Given the description of an element on the screen output the (x, y) to click on. 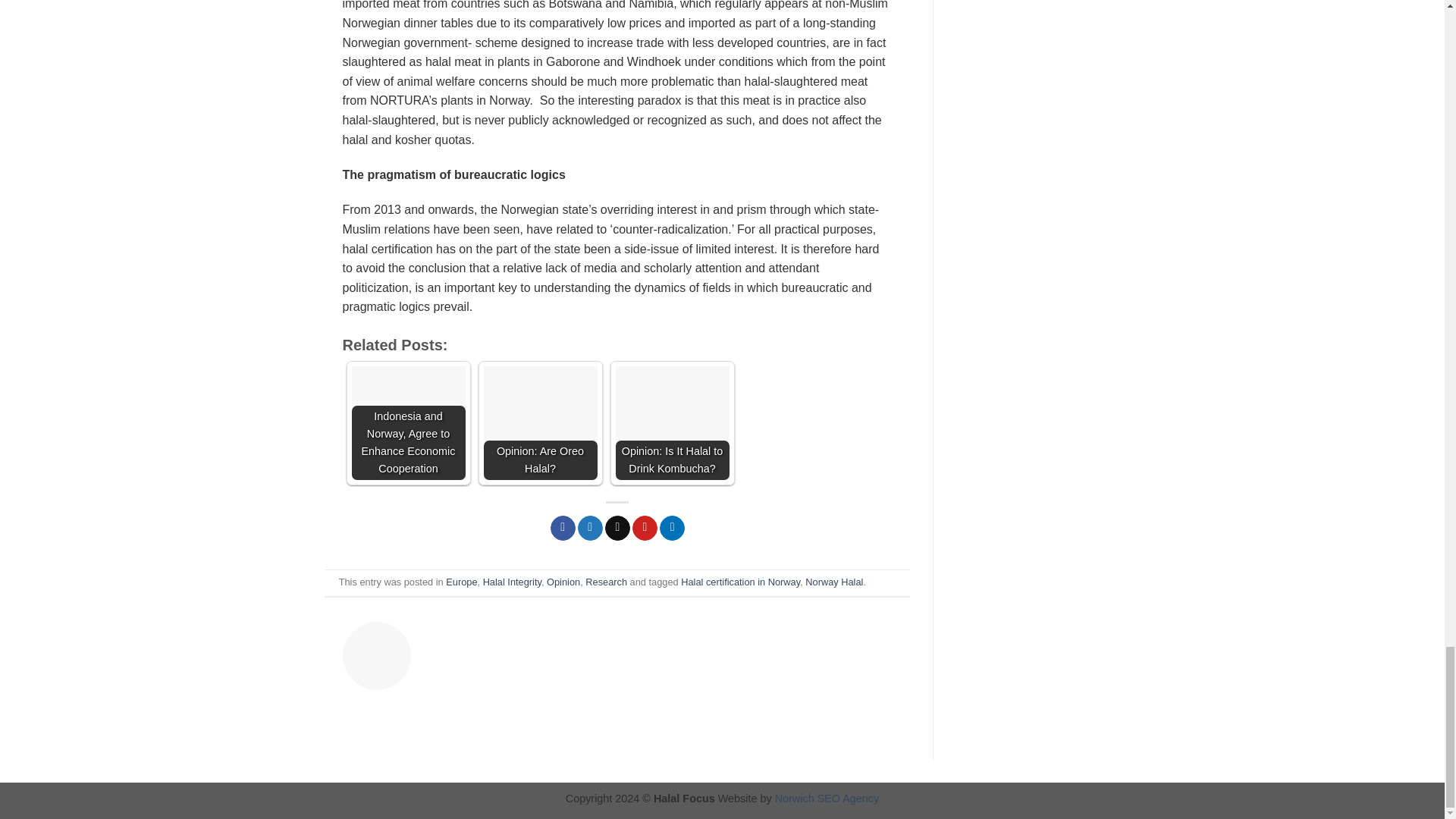
Indonesia and Norway,  Agree to Enhance Economic Cooperation (408, 422)
Opinion: Is It Halal to Drink Kombucha? (672, 422)
Share on Twitter (590, 528)
Share on Facebook (562, 528)
Opinion: Are Oreo Halal? (539, 422)
Pin on Pinterest (644, 528)
Email to a Friend (617, 528)
